Given the description of an element on the screen output the (x, y) to click on. 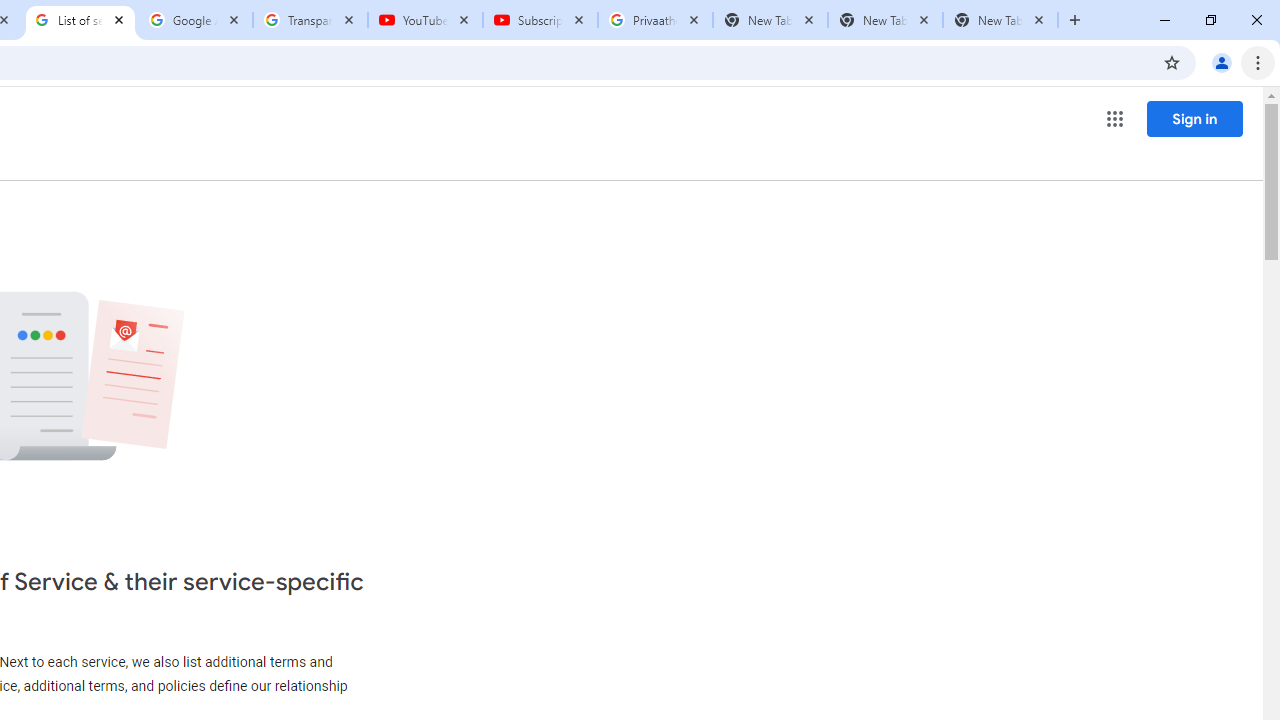
Google Account (195, 20)
YouTube (424, 20)
Subscriptions - YouTube (539, 20)
New Tab (1000, 20)
